Given the description of an element on the screen output the (x, y) to click on. 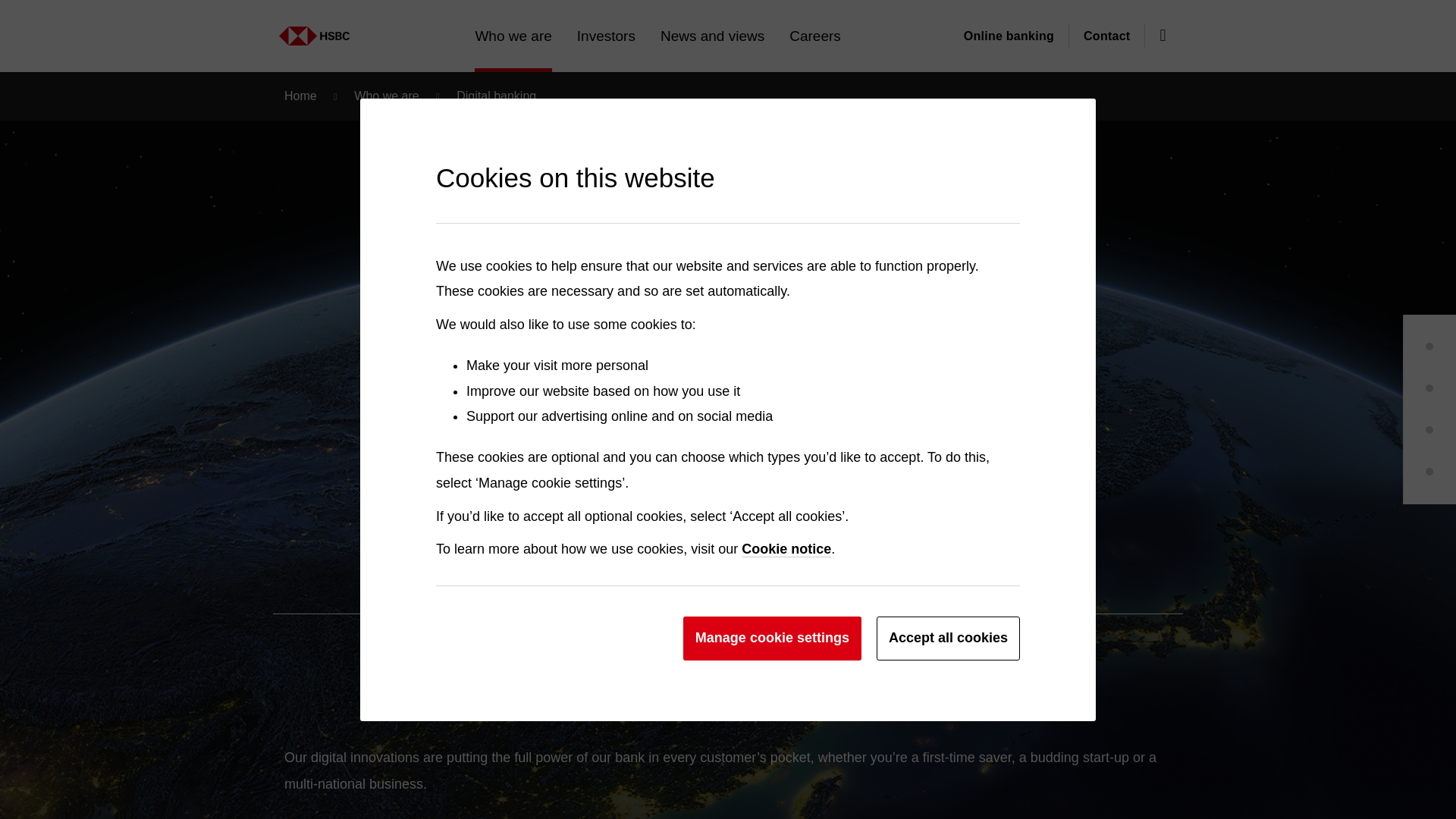
Home (364, 28)
Who we are (280, 28)
